Given the description of an element on the screen output the (x, y) to click on. 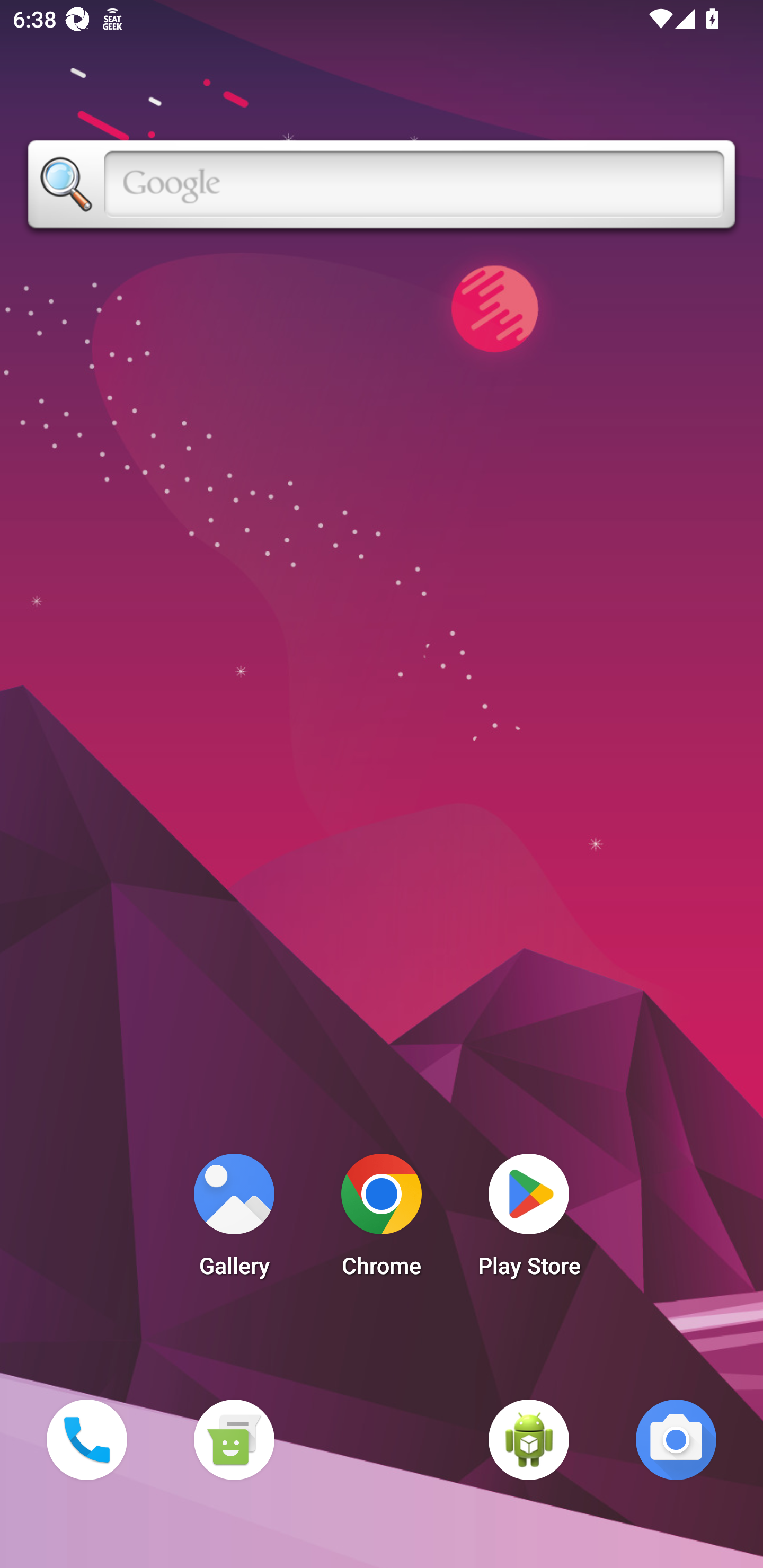
Gallery (233, 1220)
Chrome (381, 1220)
Play Store (528, 1220)
Phone (86, 1439)
Messaging (233, 1439)
WebView Browser Tester (528, 1439)
Camera (676, 1439)
